Given the description of an element on the screen output the (x, y) to click on. 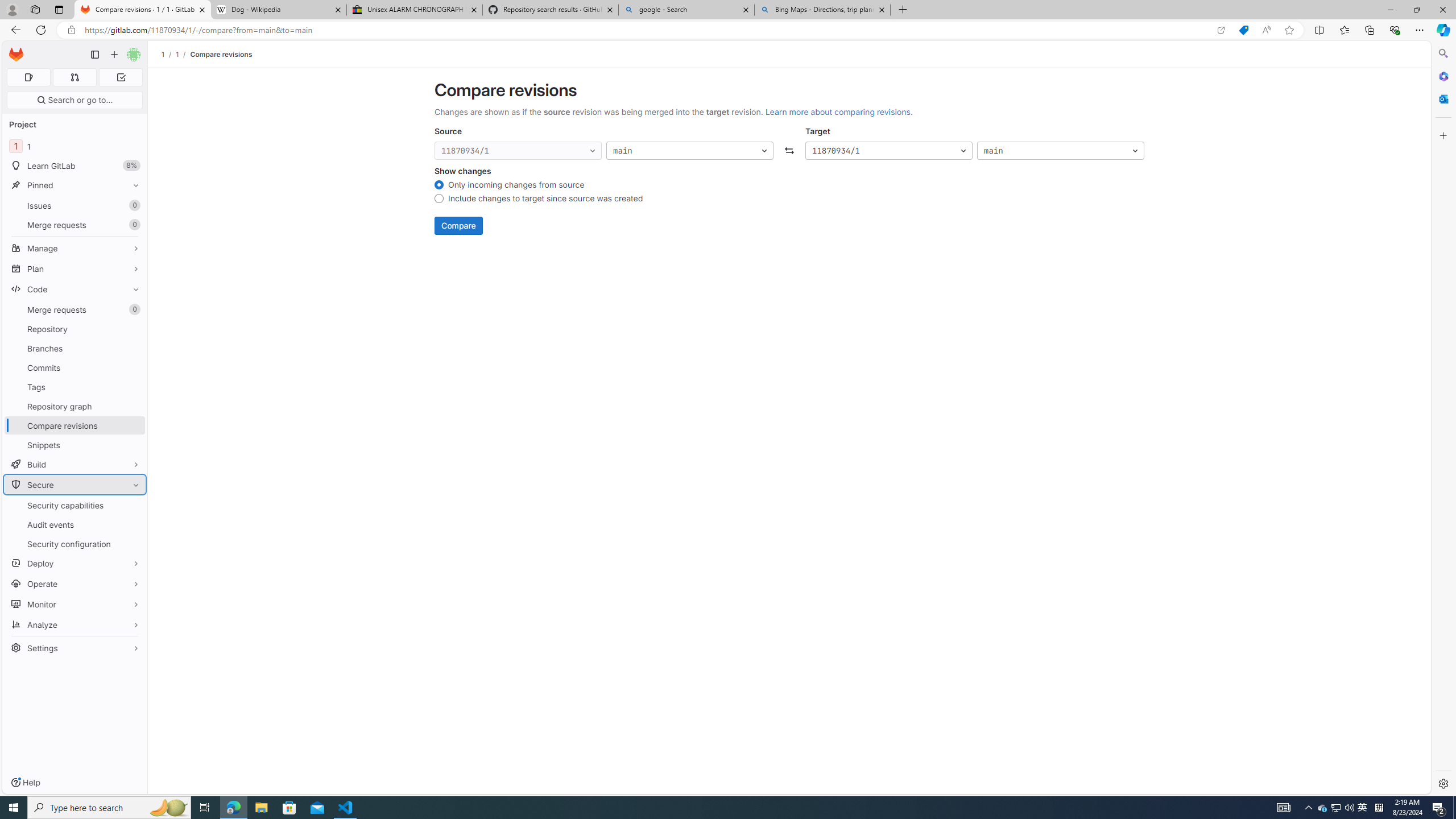
Merge requests 0 (74, 76)
Pin Branches (132, 348)
Snippets (74, 444)
Analyze (74, 624)
Deploy (74, 562)
Plan (74, 268)
Repository (74, 328)
Monitor (74, 603)
11 (74, 145)
